Given the description of an element on the screen output the (x, y) to click on. 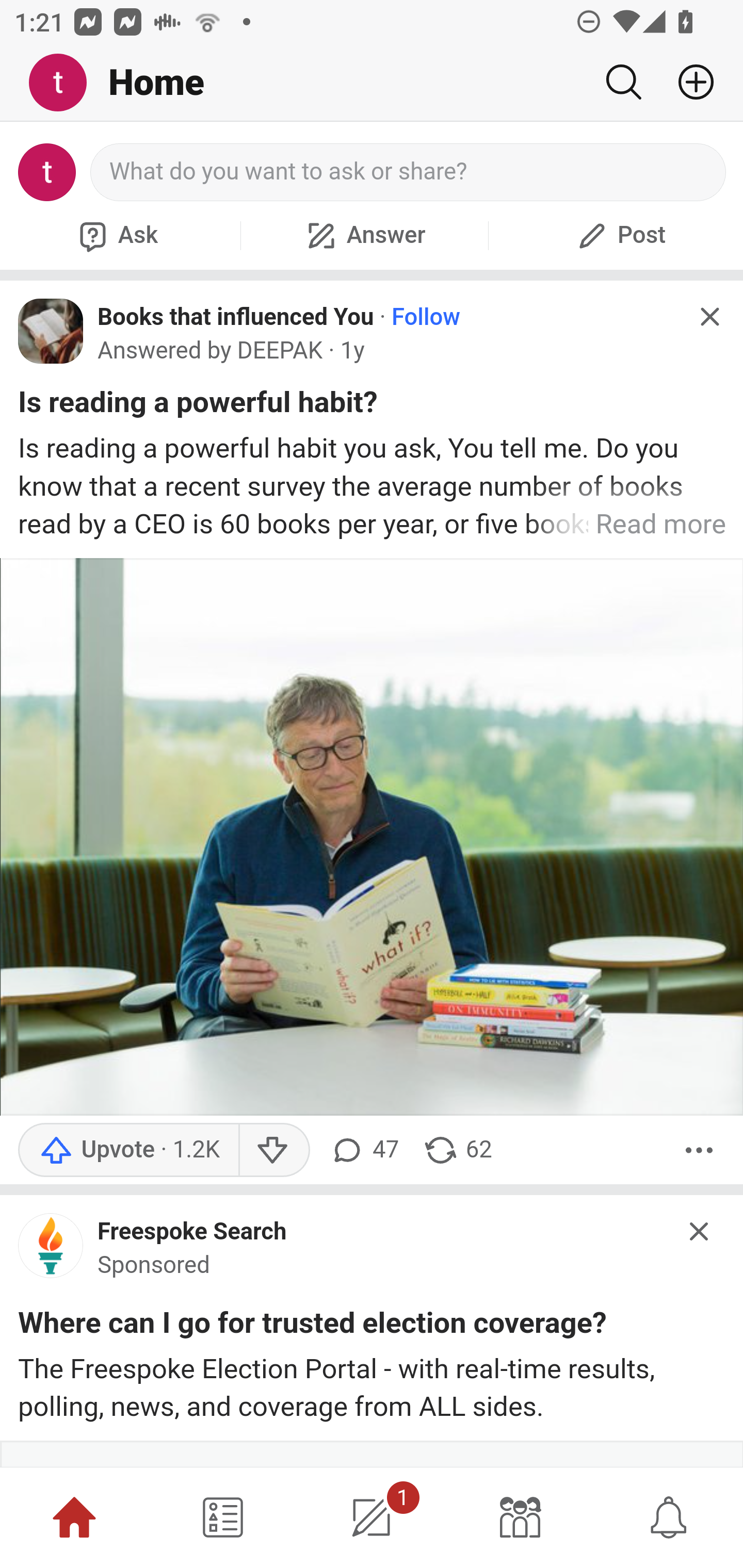
Me Home Search Add (371, 82)
Me (64, 83)
Search (623, 82)
Add (688, 82)
What do you want to ask or share? (408, 172)
Ask (116, 234)
Answer (364, 234)
Post (618, 234)
Hide (709, 316)
Icon for Books that influenced You (50, 330)
Books that influenced You (236, 316)
Follow (426, 316)
DEEPAK (279, 350)
1y 1 y (352, 350)
Upvote (127, 1149)
Downvote (273, 1149)
47 comments (363, 1149)
62 shares (457, 1149)
More (699, 1149)
Hide (699, 1230)
main-qimg-784c0b59c1772b60fd46a882711c92a8 (50, 1250)
Freespoke Search (191, 1231)
Sponsored (154, 1265)
Where can I go for trusted election coverage? (312, 1327)
1 (371, 1517)
